Given the description of an element on the screen output the (x, y) to click on. 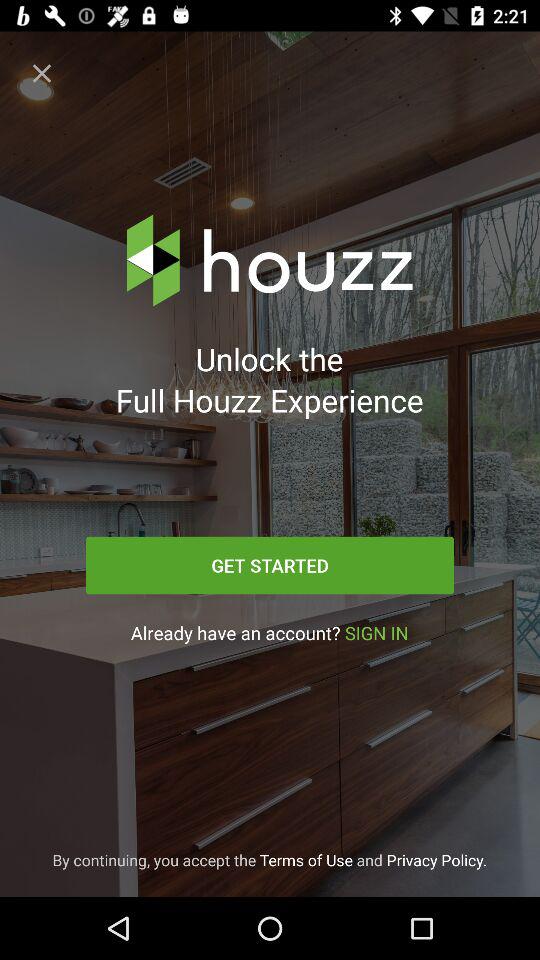
choose the icon below the unlock the full icon (269, 565)
